Given the description of an element on the screen output the (x, y) to click on. 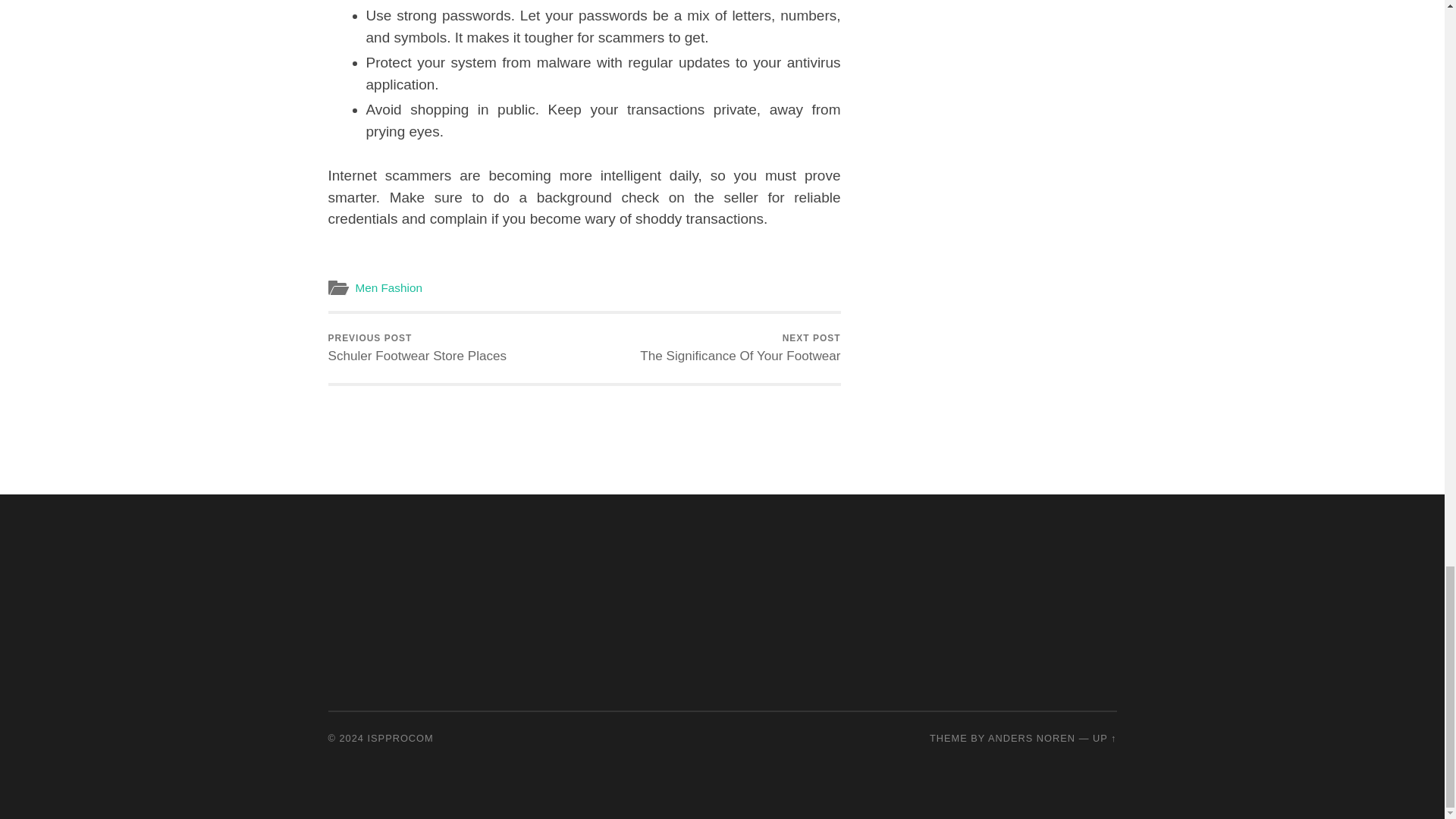
To the top (740, 348)
Men Fashion (1104, 737)
